Given the description of an element on the screen output the (x, y) to click on. 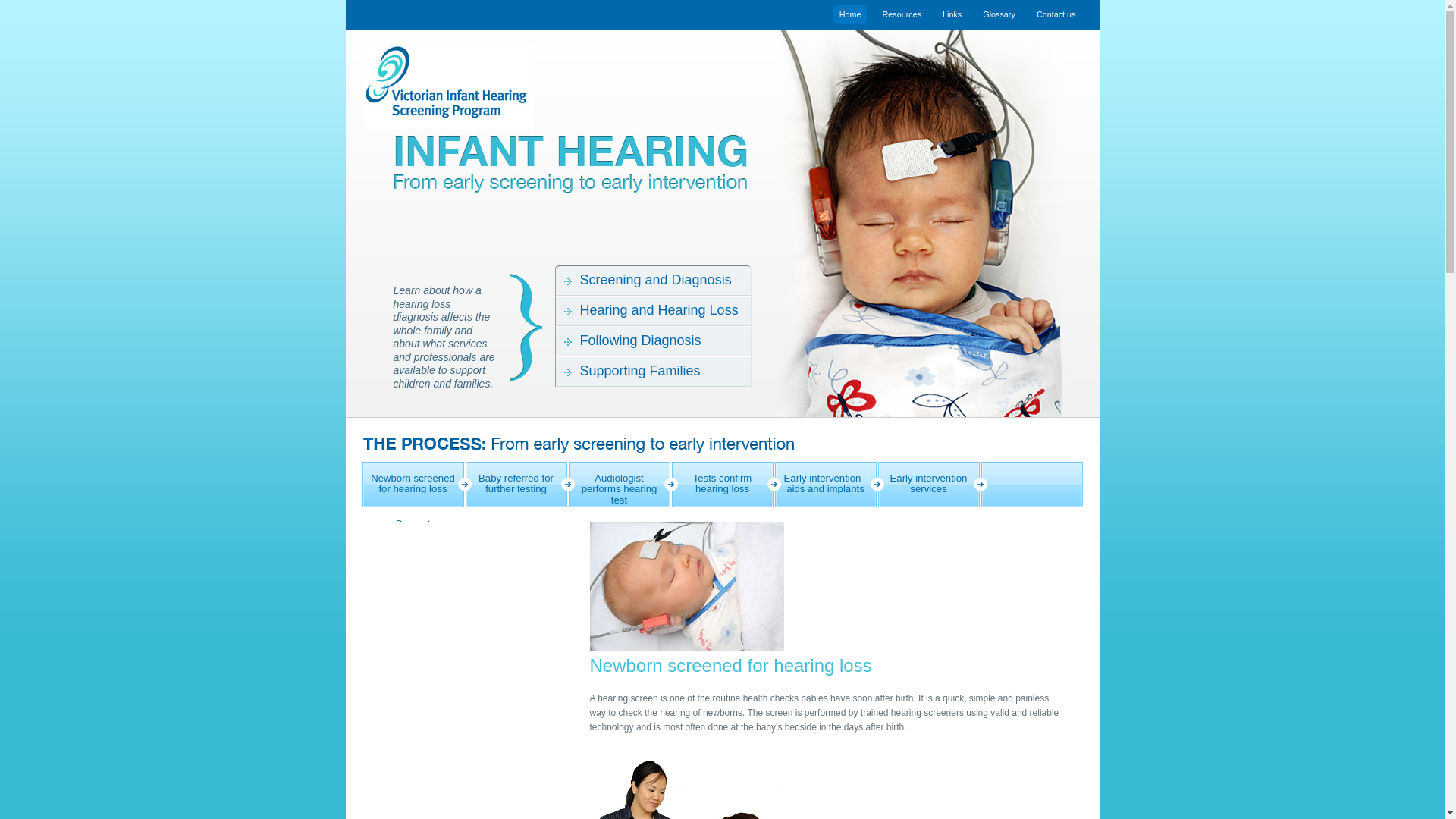
Supporting Families Element type: text (653, 371)
Following Diagnosis Element type: text (653, 341)
Support Element type: text (413, 529)
Early intervention services Element type: text (928, 484)
Victorian Infant Hearing Screening Program Element type: text (555, 85)
Glossary Element type: text (1000, 14)
Early intervention - aids and implants Element type: text (825, 484)
Tests confirm hearing loss Element type: text (722, 484)
Infant Hearing - From early screening to early prevention Element type: text (555, 160)
Home Element type: text (852, 14)
Links Element type: text (953, 14)
Newborn screened for hearing loss Element type: text (413, 484)
Audiologist performs hearing test Element type: text (619, 484)
Hearing and Hearing Loss Element type: text (653, 310)
Contact us Element type: text (1058, 14)
Baby referred for further testing Element type: text (516, 484)
Resources Element type: text (903, 14)
Screening and Diagnosis Element type: text (653, 280)
